Given the description of an element on the screen output the (x, y) to click on. 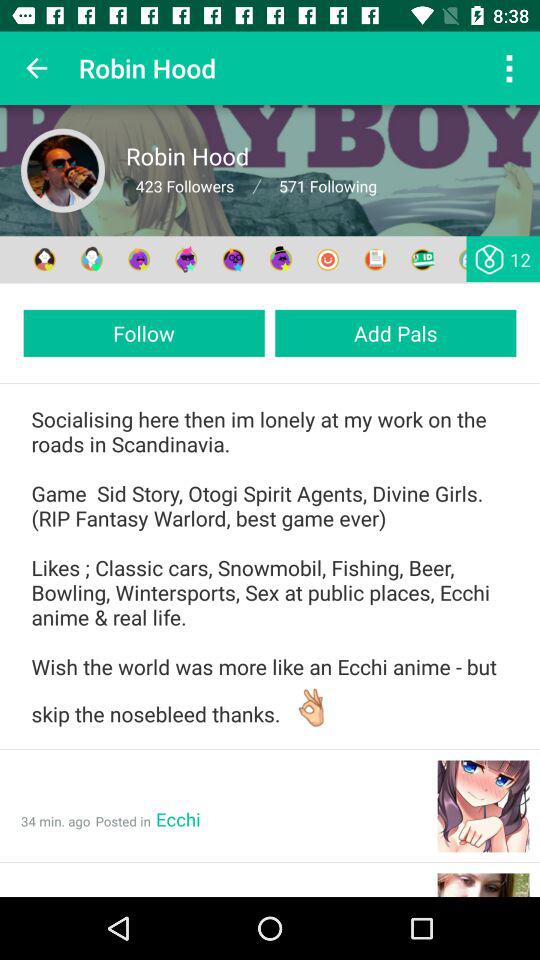
tap item next to the add pals icon (143, 332)
